Given the description of an element on the screen output the (x, y) to click on. 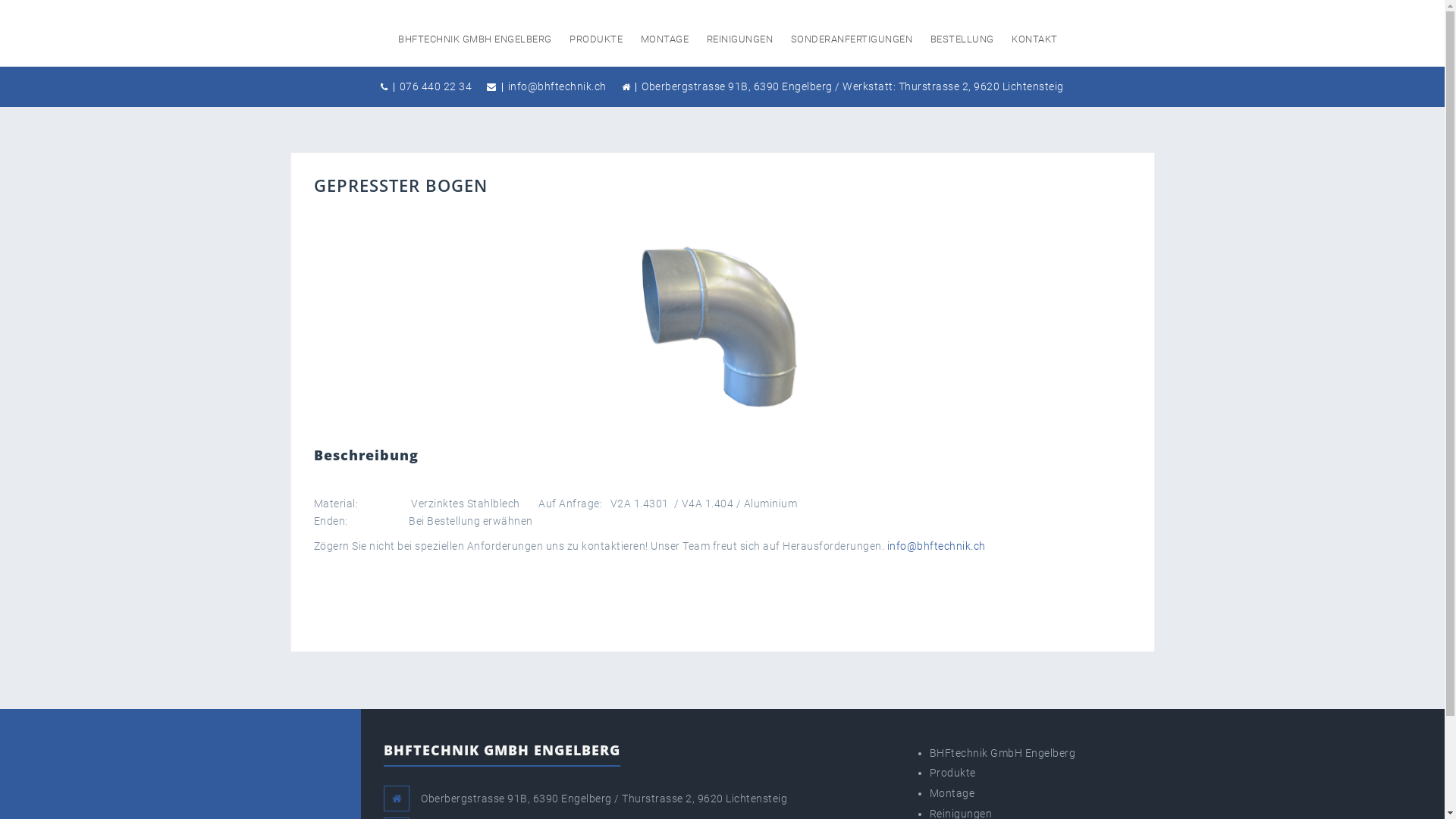
Skip to content Element type: text (0, 0)
PRODUKTE Element type: text (595, 39)
BHFtechnik GmbH Engelberg Element type: text (1002, 752)
SONDERANFERTIGUNGEN Element type: text (851, 39)
Produkte Element type: text (952, 772)
info@bhftechnik.ch Element type: text (936, 545)
Montage Element type: text (952, 793)
REINIGUNGEN Element type: text (739, 39)
MONTAGE Element type: text (664, 39)
KONTAKT Element type: text (1034, 39)
BESTELLUNG Element type: text (962, 39)
BHFTECHNIK GMBH ENGELBERG Element type: text (475, 39)
info@bhftechnik.ch Element type: text (557, 86)
